Given the description of an element on the screen output the (x, y) to click on. 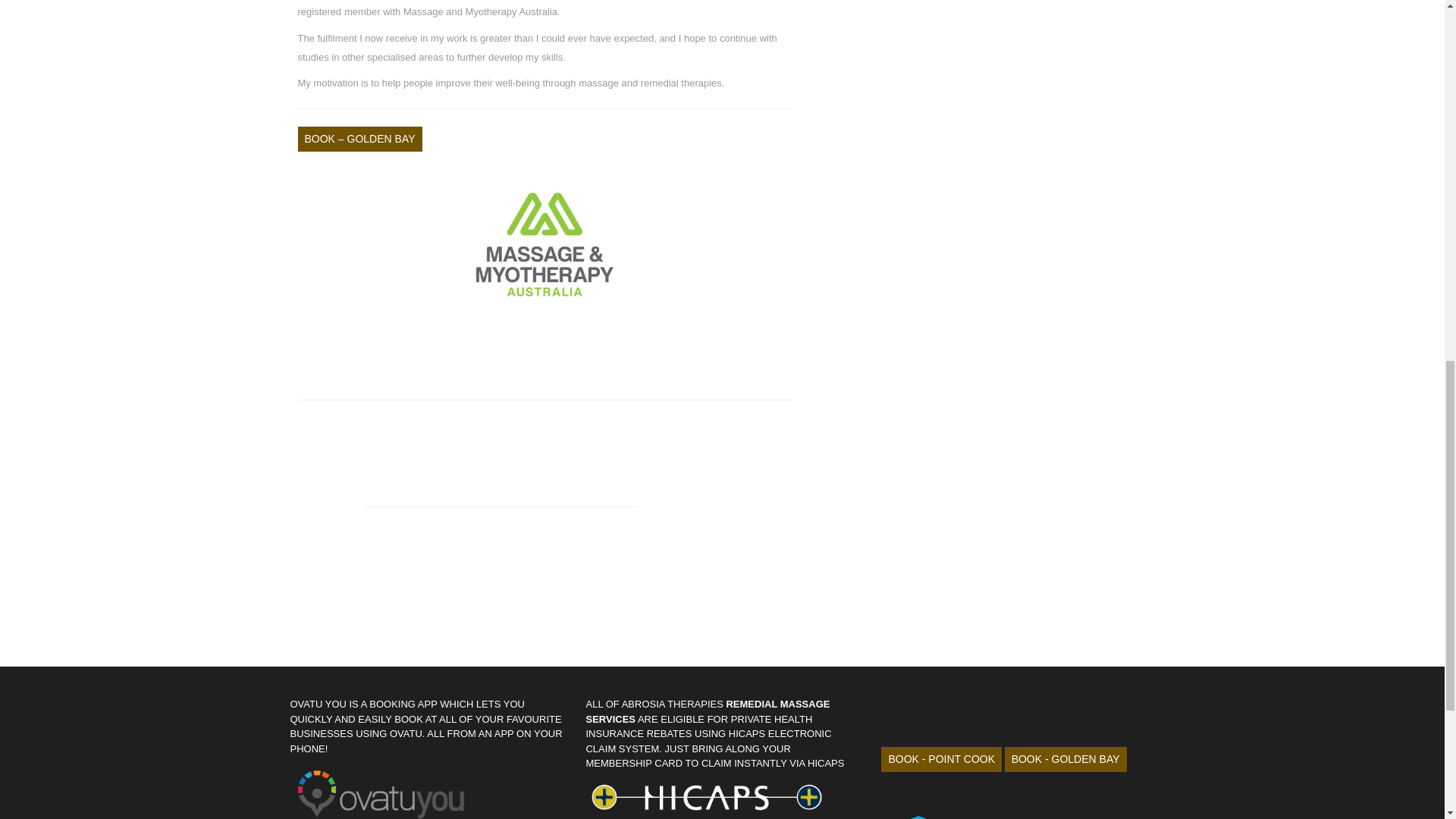
BOOK - GOLDEN BAY (1065, 759)
BOOK - POINT COOK (940, 759)
